Given the description of an element on the screen output the (x, y) to click on. 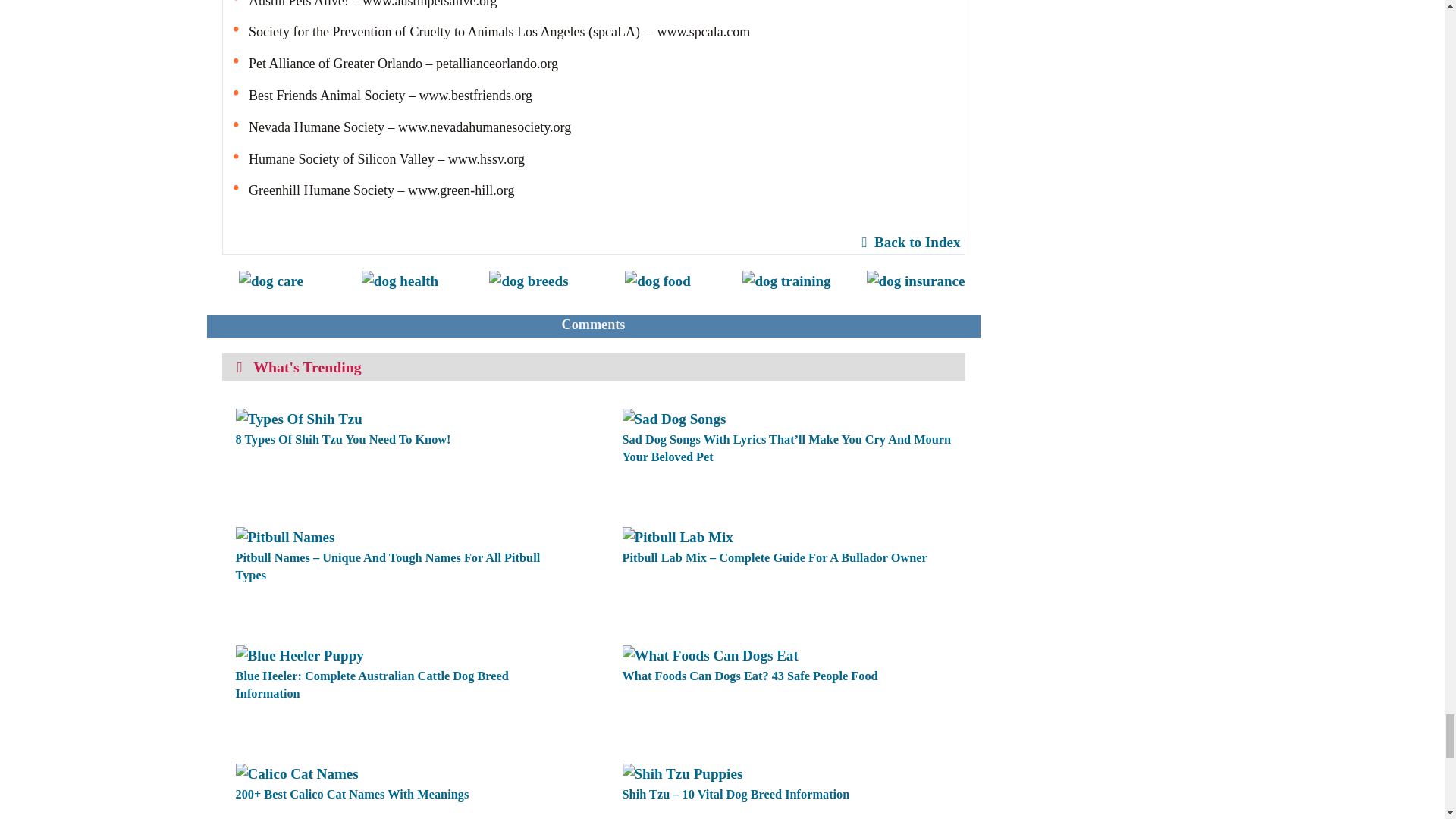
Dog Care (270, 279)
8 Types Of Shih Tzu You Need To Know! (297, 417)
Dog Health (399, 279)
Dog Breeds (528, 279)
Dog Training (785, 279)
Dog Insurance (915, 279)
Dog Food (657, 279)
